Given the description of an element on the screen output the (x, y) to click on. 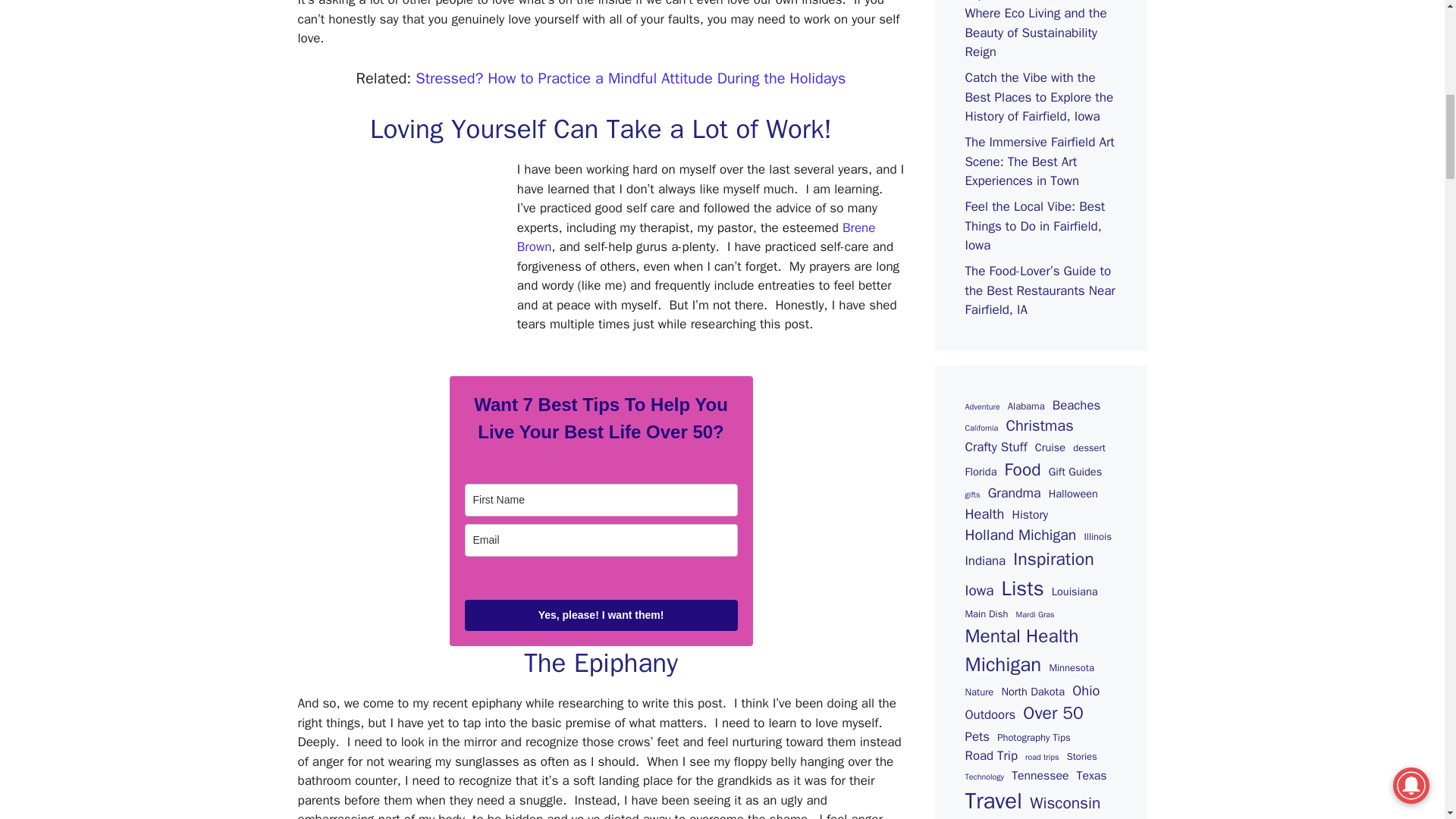
Scroll back to top (1406, 720)
Yes, please! I want them! (600, 614)
Brene Brown (696, 237)
